Given the description of an element on the screen output the (x, y) to click on. 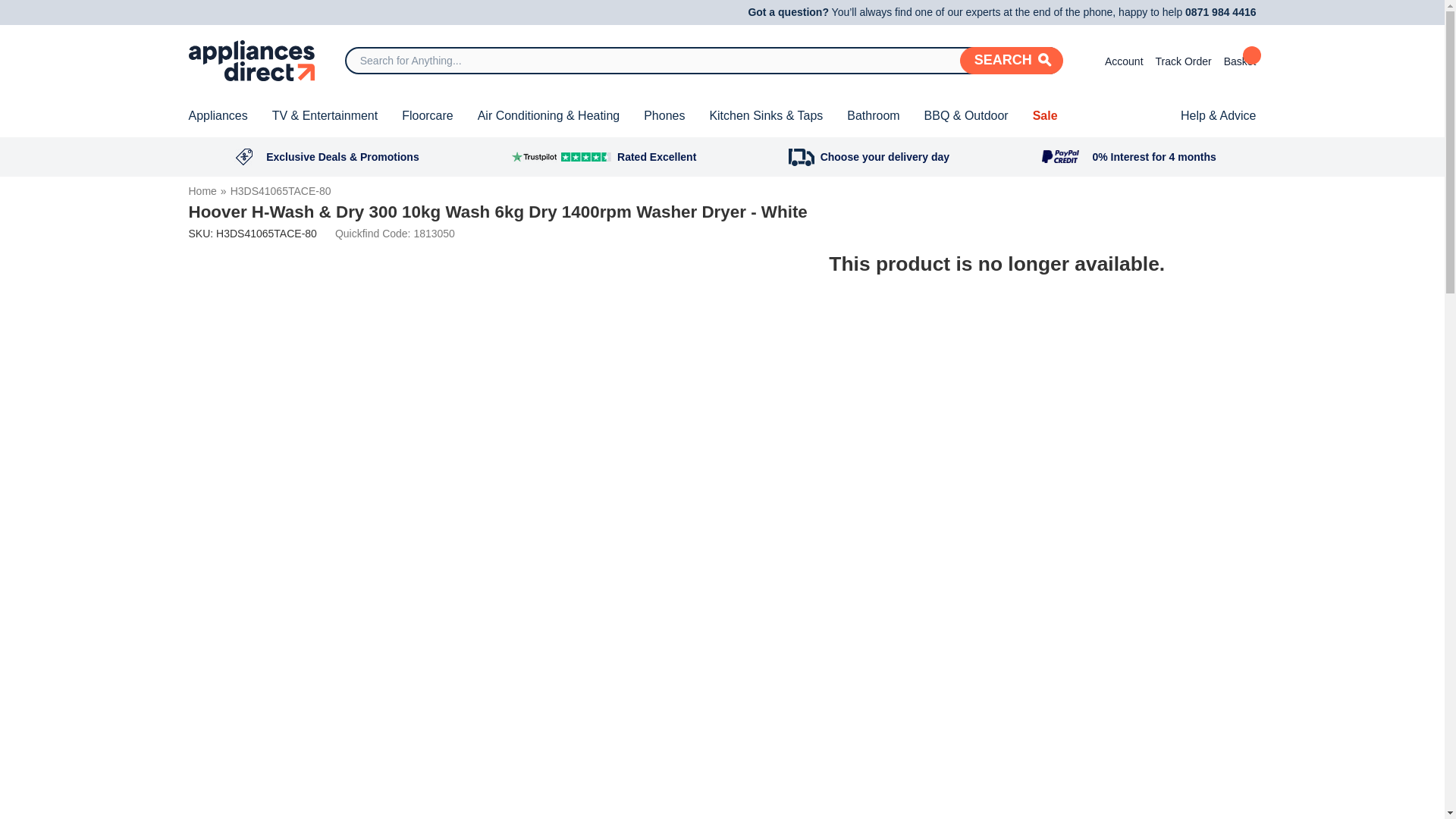
Search (1010, 60)
Track Order (1183, 59)
Account (1117, 59)
Appliances Direct Order Tracking (1183, 59)
Search (1010, 60)
Your basket contains (1240, 59)
Search for Anything... (703, 60)
Appliances Direct (250, 60)
Search (1010, 60)
Appliances (217, 115)
